Given the description of an element on the screen output the (x, y) to click on. 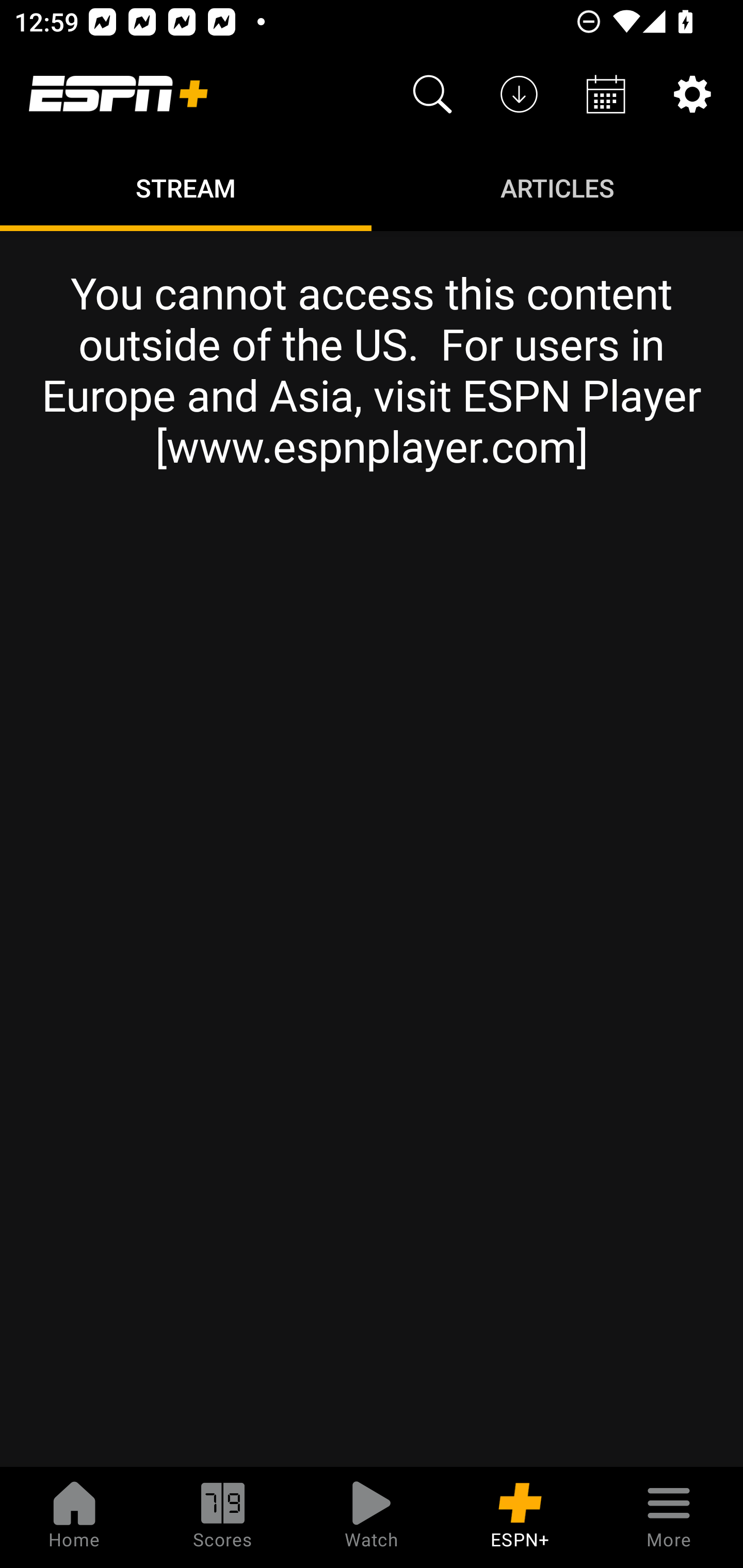
Search (432, 93)
Downloads (518, 93)
Schedule (605, 93)
Settings (692, 93)
Articles ARTICLES (557, 187)
Home (74, 1517)
Scores (222, 1517)
Watch (371, 1517)
More (668, 1517)
